Given the description of an element on the screen output the (x, y) to click on. 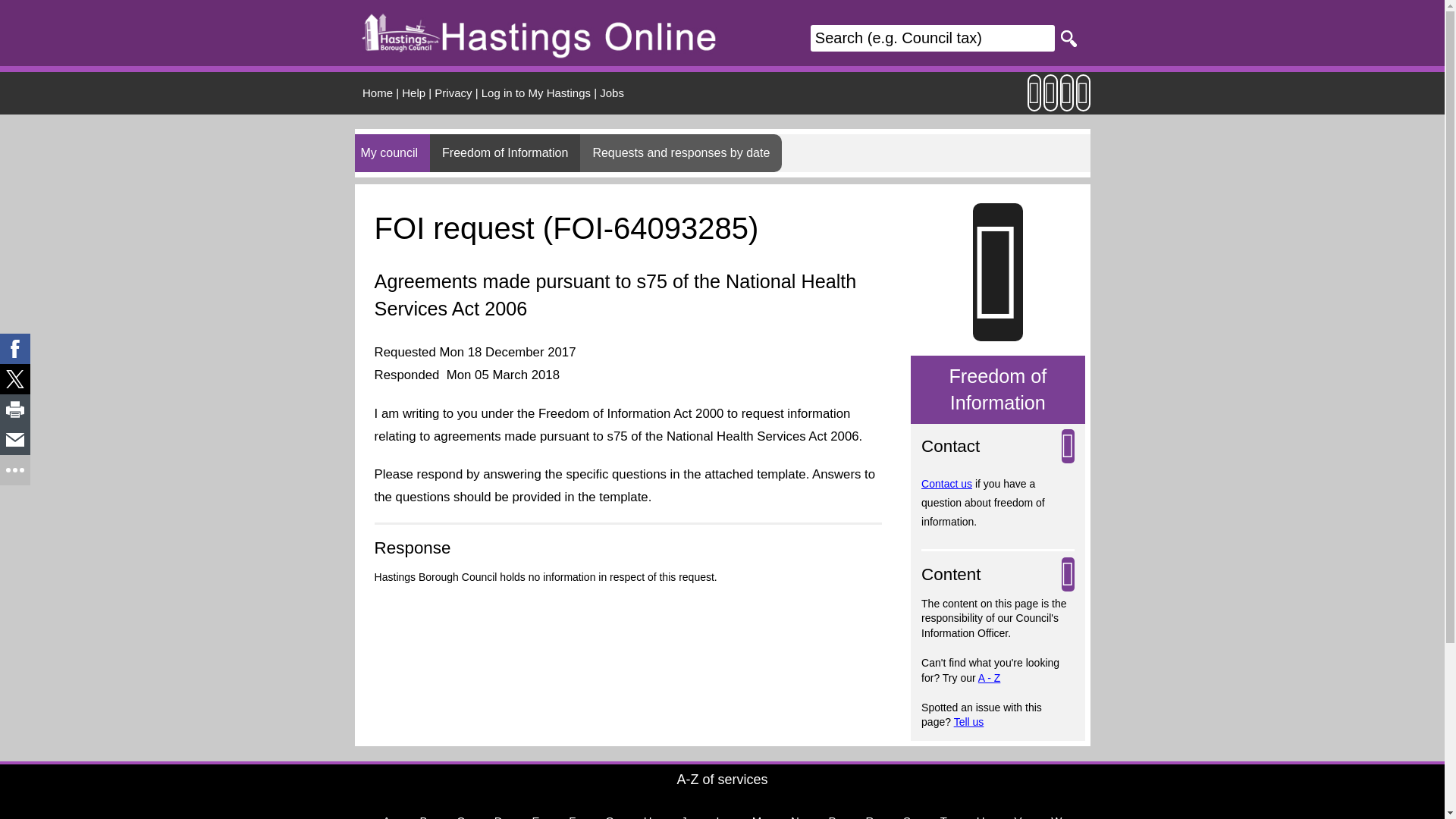
Services beginning with C (460, 809)
Log in to My Hastings (536, 92)
Your privacy (452, 92)
J (683, 809)
R (868, 809)
Help using Hastings Online (413, 92)
Jobs (611, 92)
link to Hastings council twitter feed (1066, 100)
Internal link to My Hastings Contact Us form (946, 483)
H (647, 809)
link to Hastings council facebook page (1082, 100)
Services beginning with E (535, 809)
P (832, 809)
V (1017, 809)
Hastings Online home page (377, 92)
